Given the description of an element on the screen output the (x, y) to click on. 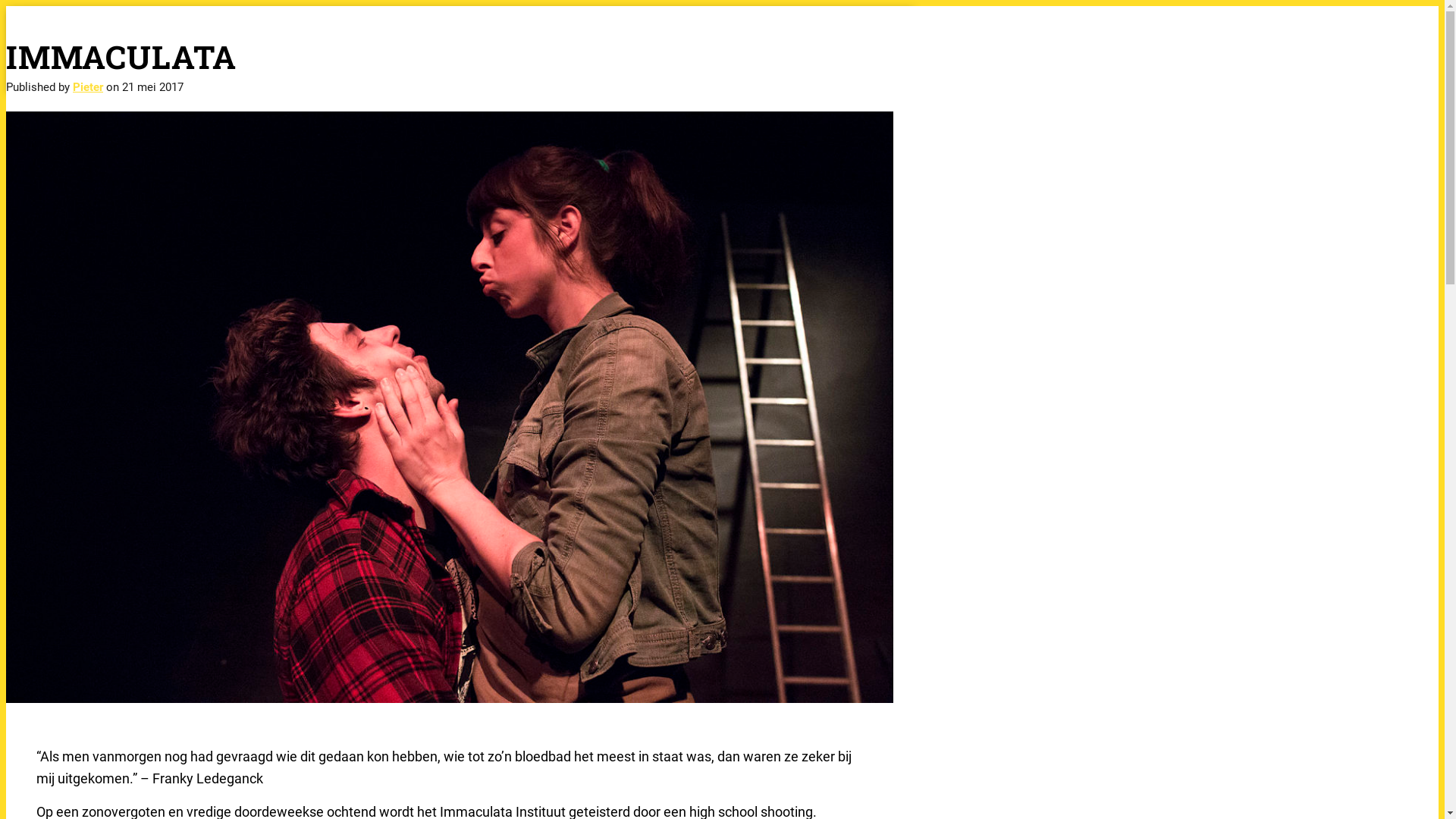
TEAM Element type: text (848, 42)
PRODUCTIES Element type: text (745, 42)
Carrosserie Mortier Element type: hover (112, 25)
TOGGLE NAVIGATION Element type: text (87, 61)
Pieter Element type: text (87, 87)
OVER ONS Element type: text (882, 42)
MERCHANDISE Element type: text (804, 42)
